Given the description of an element on the screen output the (x, y) to click on. 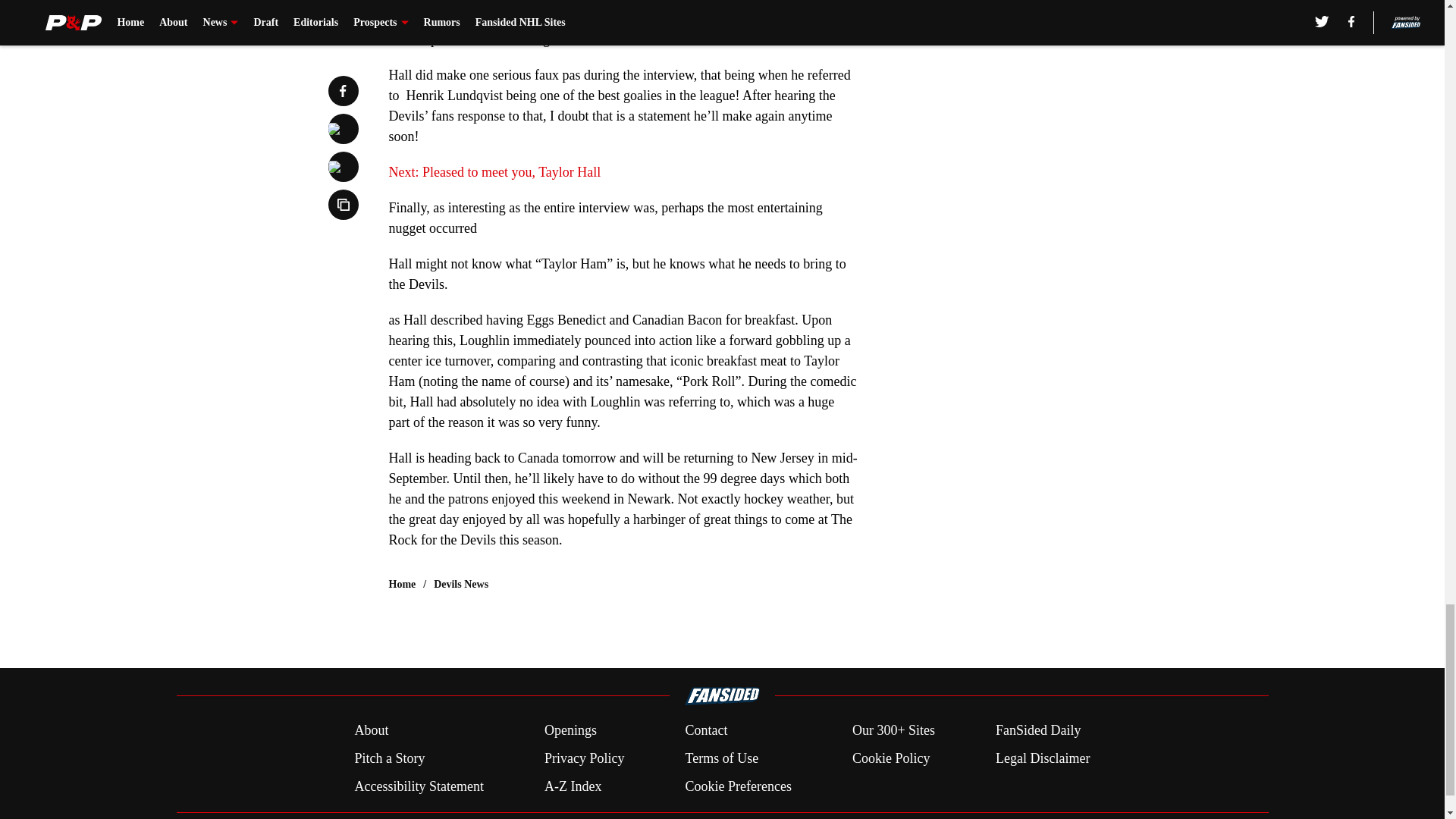
Pitch a Story (389, 758)
A-Z Index (572, 786)
Privacy Policy (584, 758)
Cookie Policy (890, 758)
Cookie Preferences (737, 786)
Home (401, 584)
FanSided Daily (1038, 730)
Accessibility Statement (418, 786)
Devils News (460, 584)
Openings (570, 730)
